Given the description of an element on the screen output the (x, y) to click on. 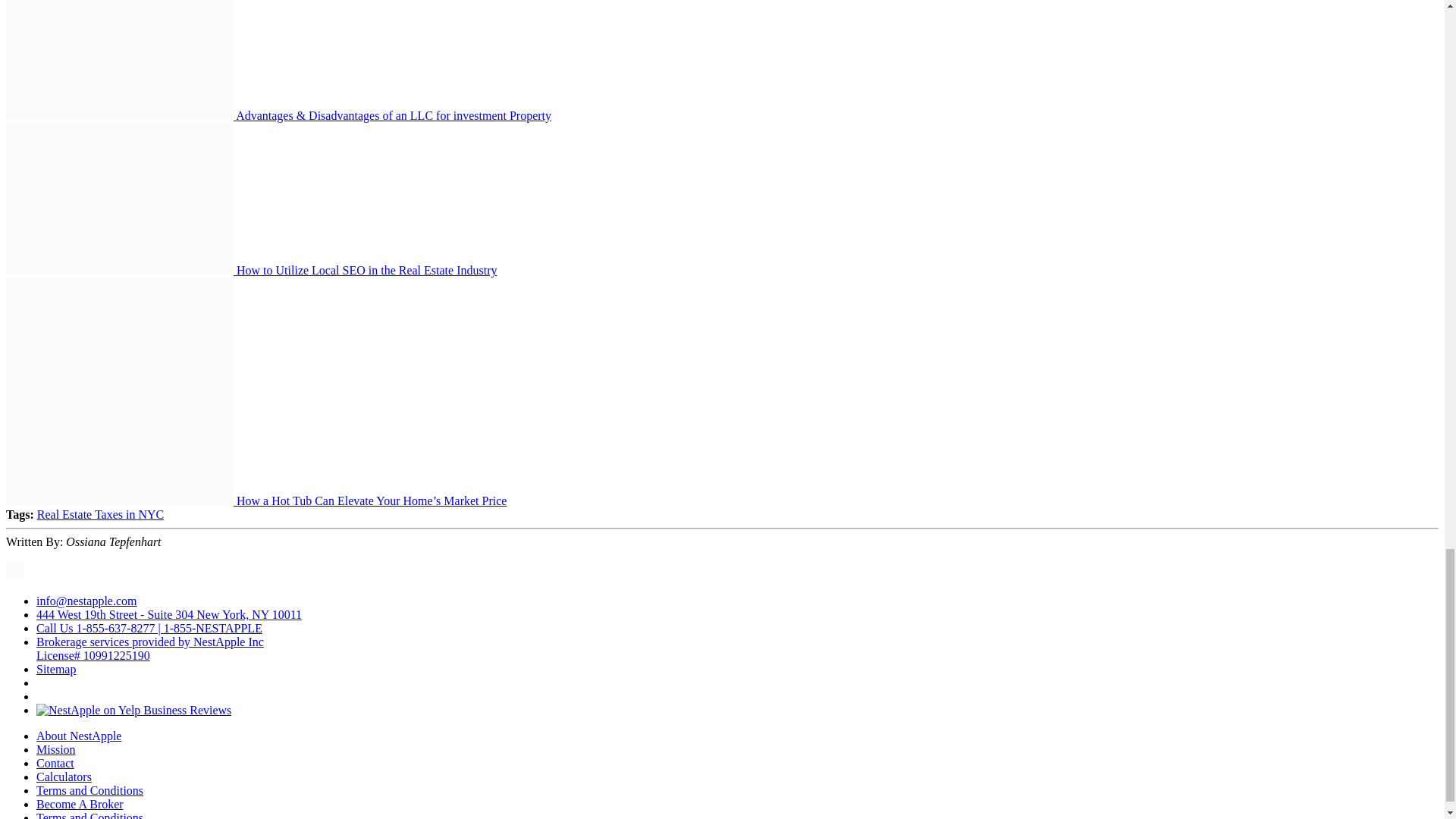
How to Utilize Local SEO in the Real Estate Industry (365, 269)
Syndicate this site using RSS (14, 574)
444 West 19th Street - Suite 304 New York, NY 10011 (168, 614)
Real Estate Taxes in NYC (100, 513)
